Given the description of an element on the screen output the (x, y) to click on. 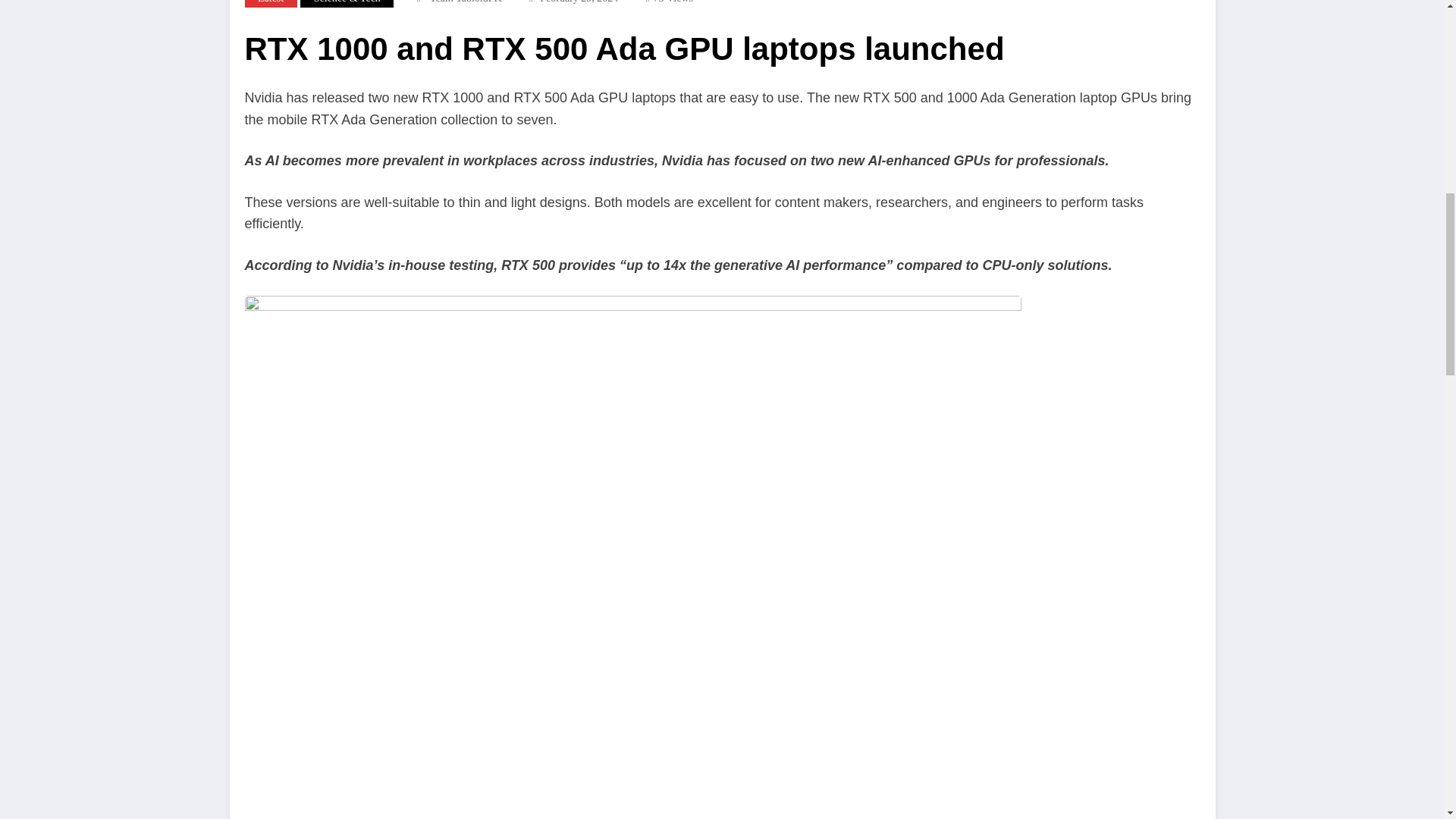
Posts by Team TabloidPK (465, 2)
Latest (270, 3)
February 29, 2024 (578, 2)
Latest (270, 3)
Team TabloidPK (465, 2)
